Given the description of an element on the screen output the (x, y) to click on. 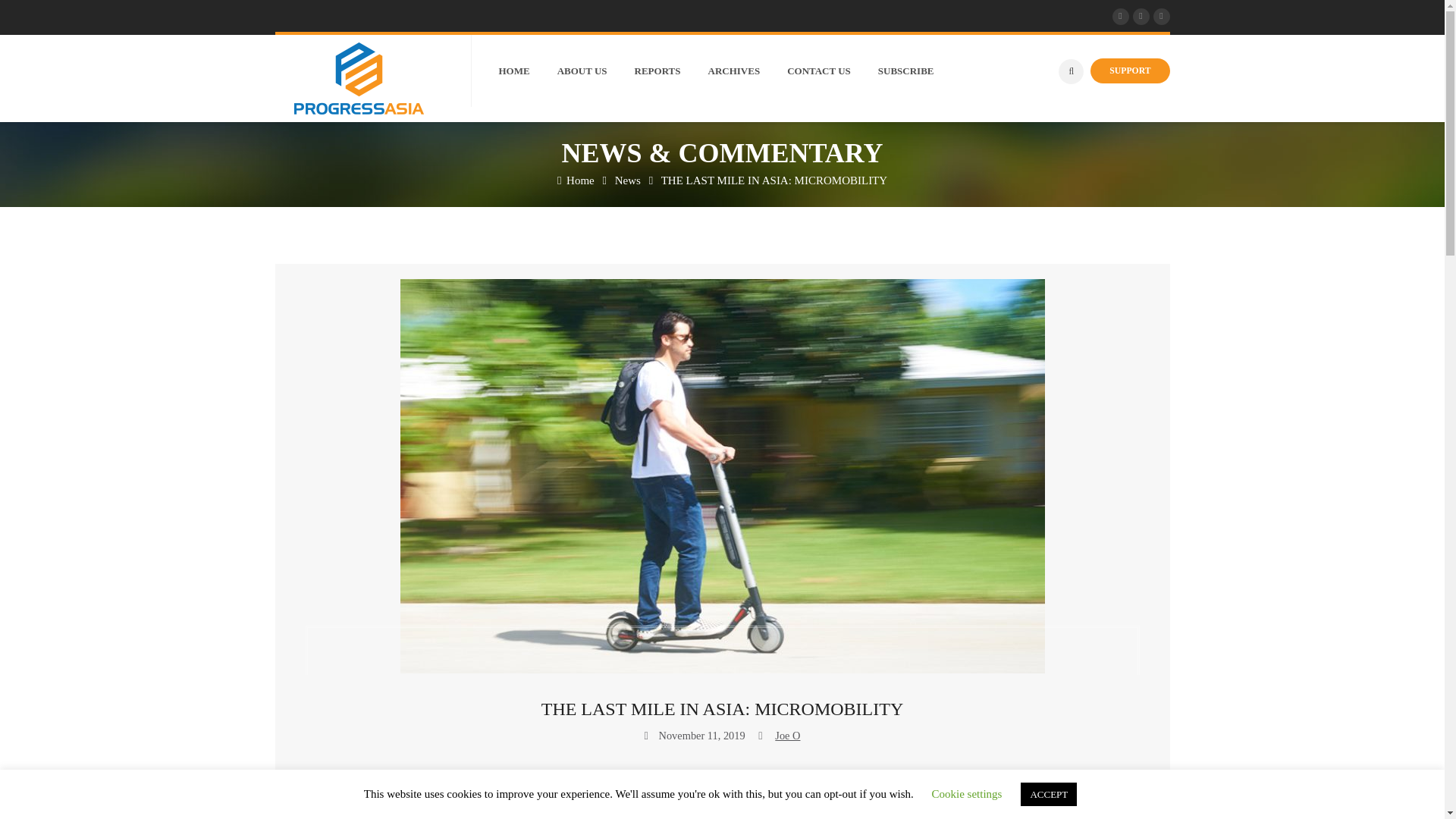
SUBSCRIBE (918, 71)
Progress Asia (575, 180)
News (627, 180)
View all posts in News (721, 776)
SUPPORT (1129, 70)
Home (575, 180)
PROGRESSASIA (359, 78)
ARCHIVES (747, 71)
ABOUT US (595, 71)
Joe O (786, 735)
